Given the description of an element on the screen output the (x, y) to click on. 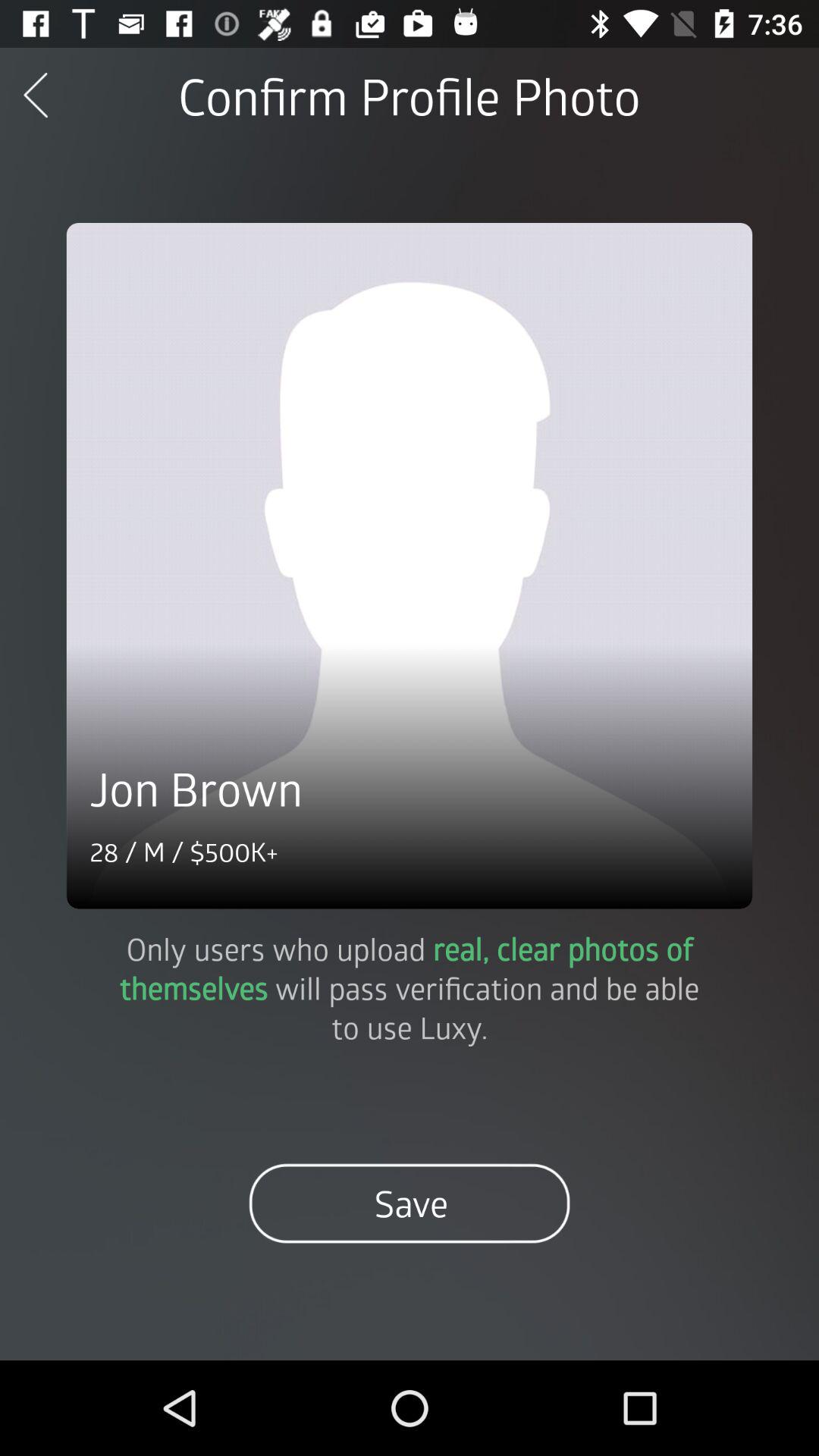
open the save item (409, 1203)
